Given the description of an element on the screen output the (x, y) to click on. 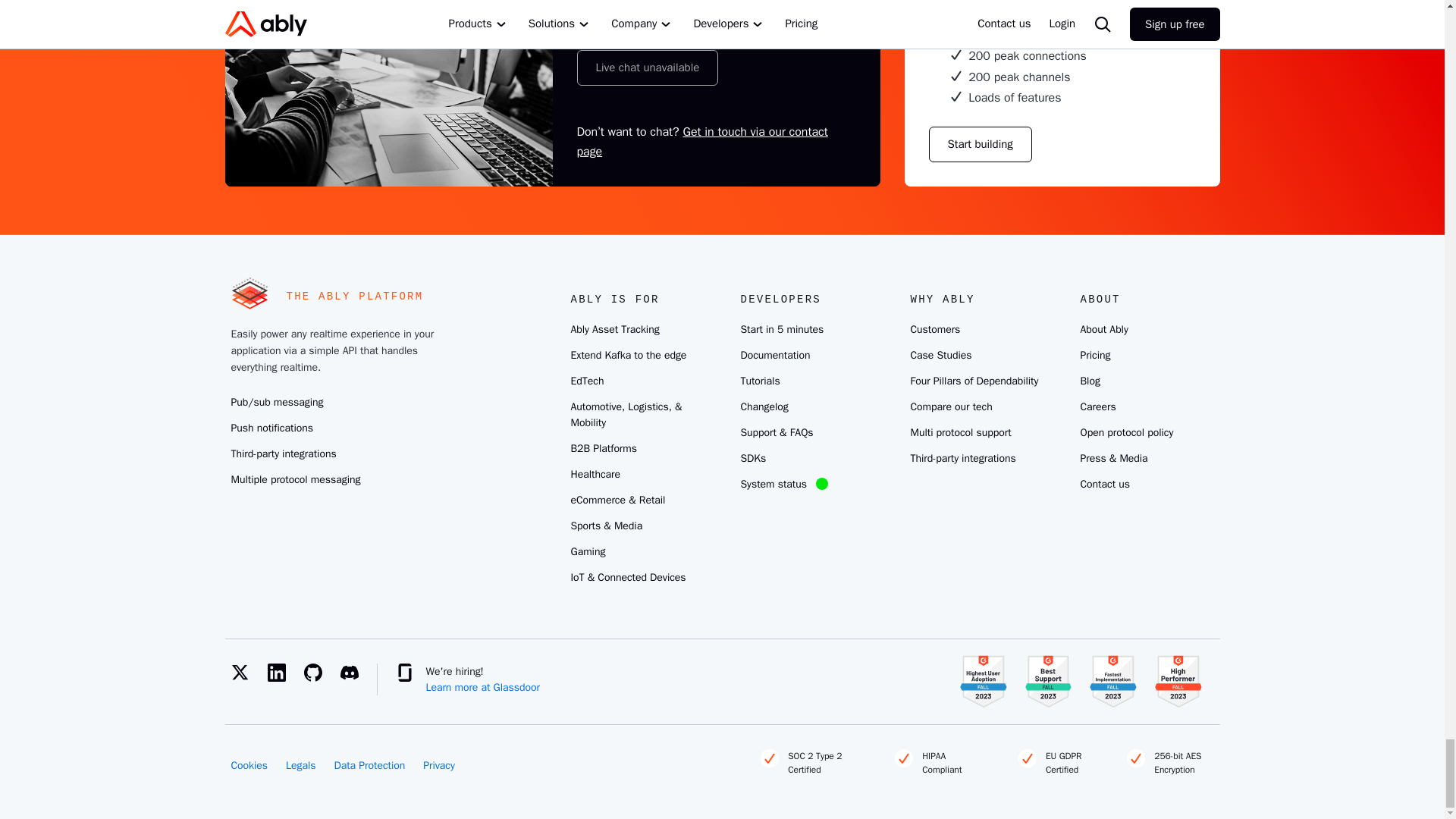
Ably on X (248, 672)
Ably on Discord (357, 672)
Ably on Github (320, 672)
Ably reviews on glassdoor (404, 672)
Ably on LinkedIn (284, 672)
